Given the description of an element on the screen output the (x, y) to click on. 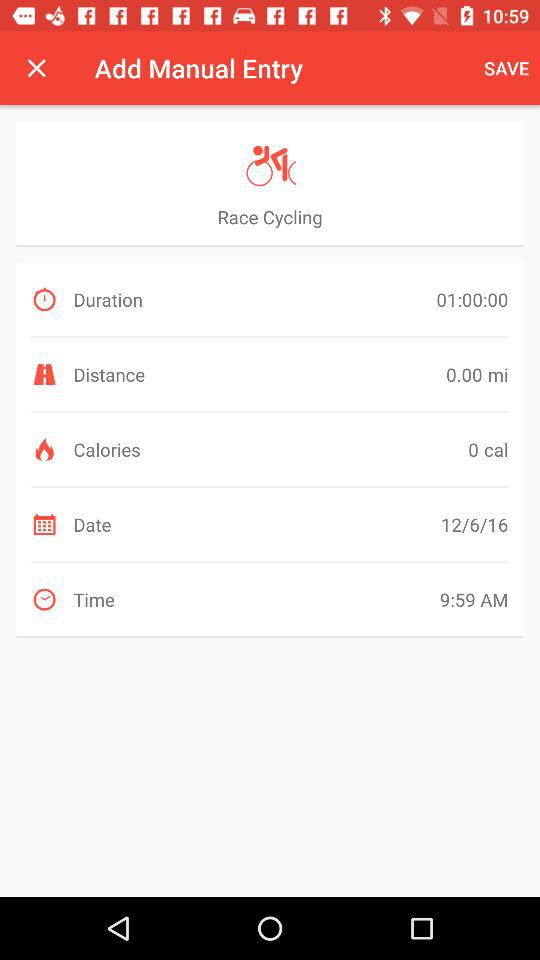
press app next to add manual entry (36, 68)
